Given the description of an element on the screen output the (x, y) to click on. 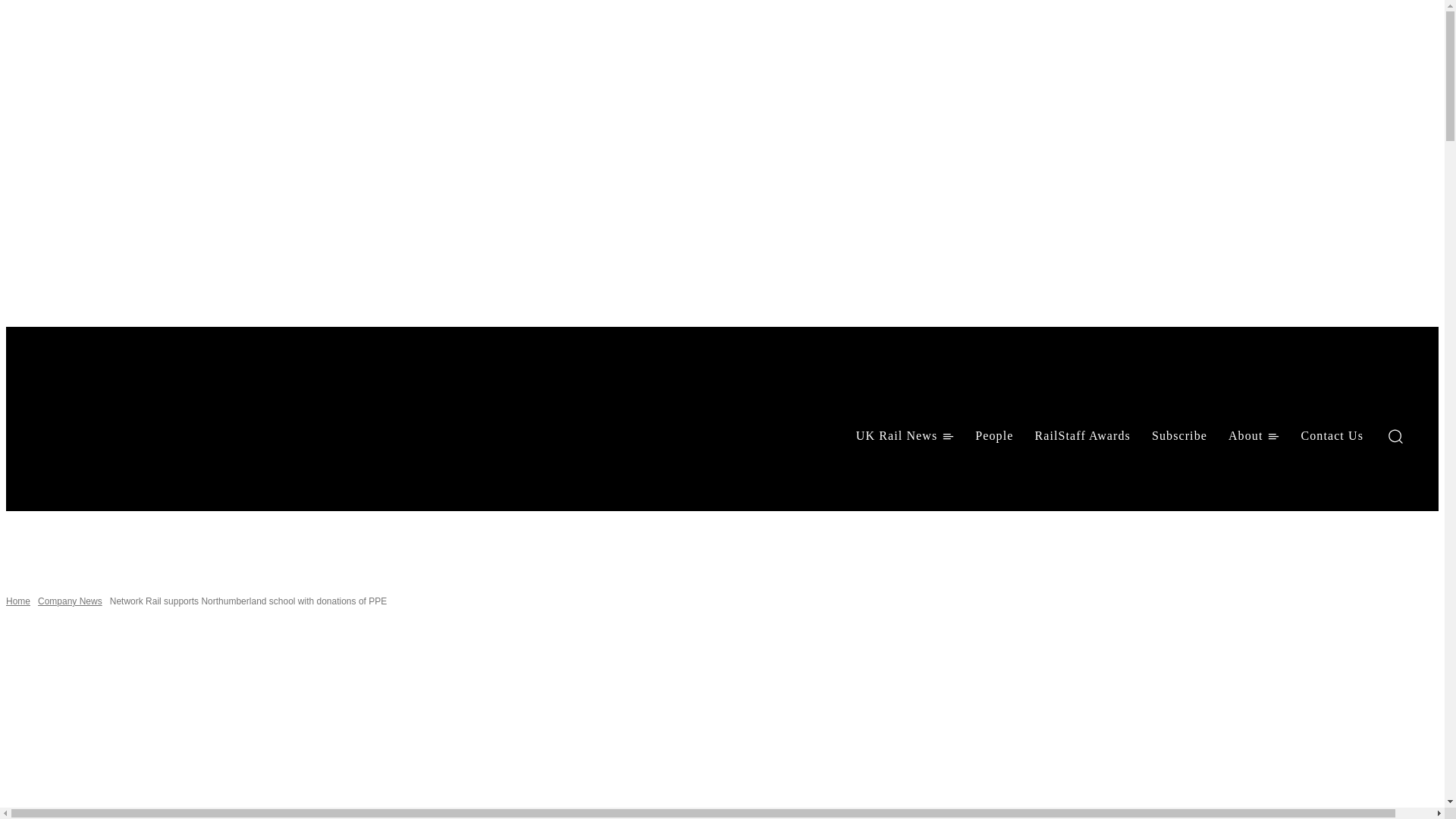
UK Rail News (904, 434)
Linkedin (83, 476)
Facebook (44, 476)
View all posts in Company News (69, 601)
Twitter (122, 476)
People (993, 434)
